Given the description of an element on the screen output the (x, y) to click on. 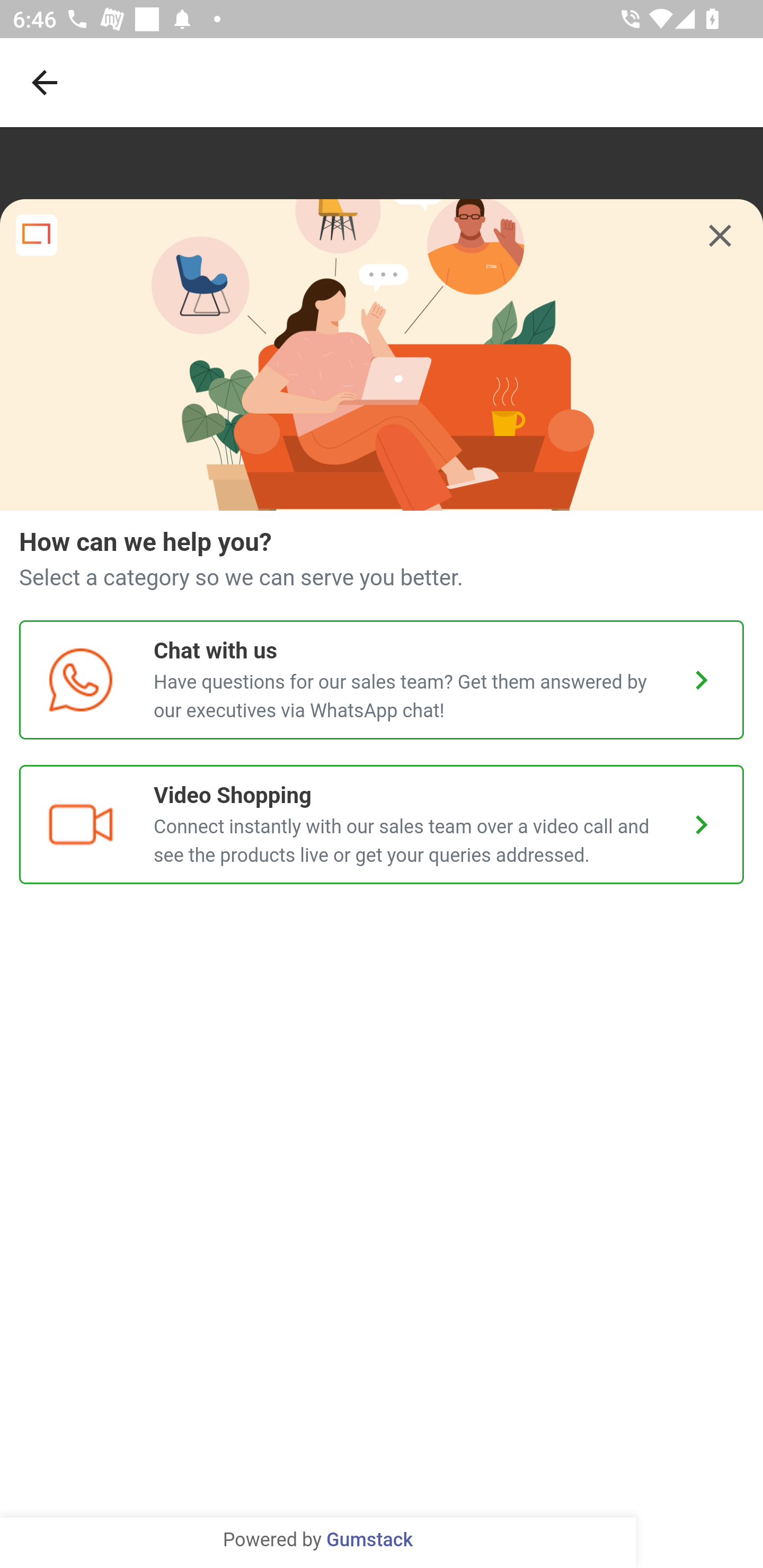
Navigate up (44, 82)
clear (720, 235)
Gumstack (369, 1540)
